Given the description of an element on the screen output the (x, y) to click on. 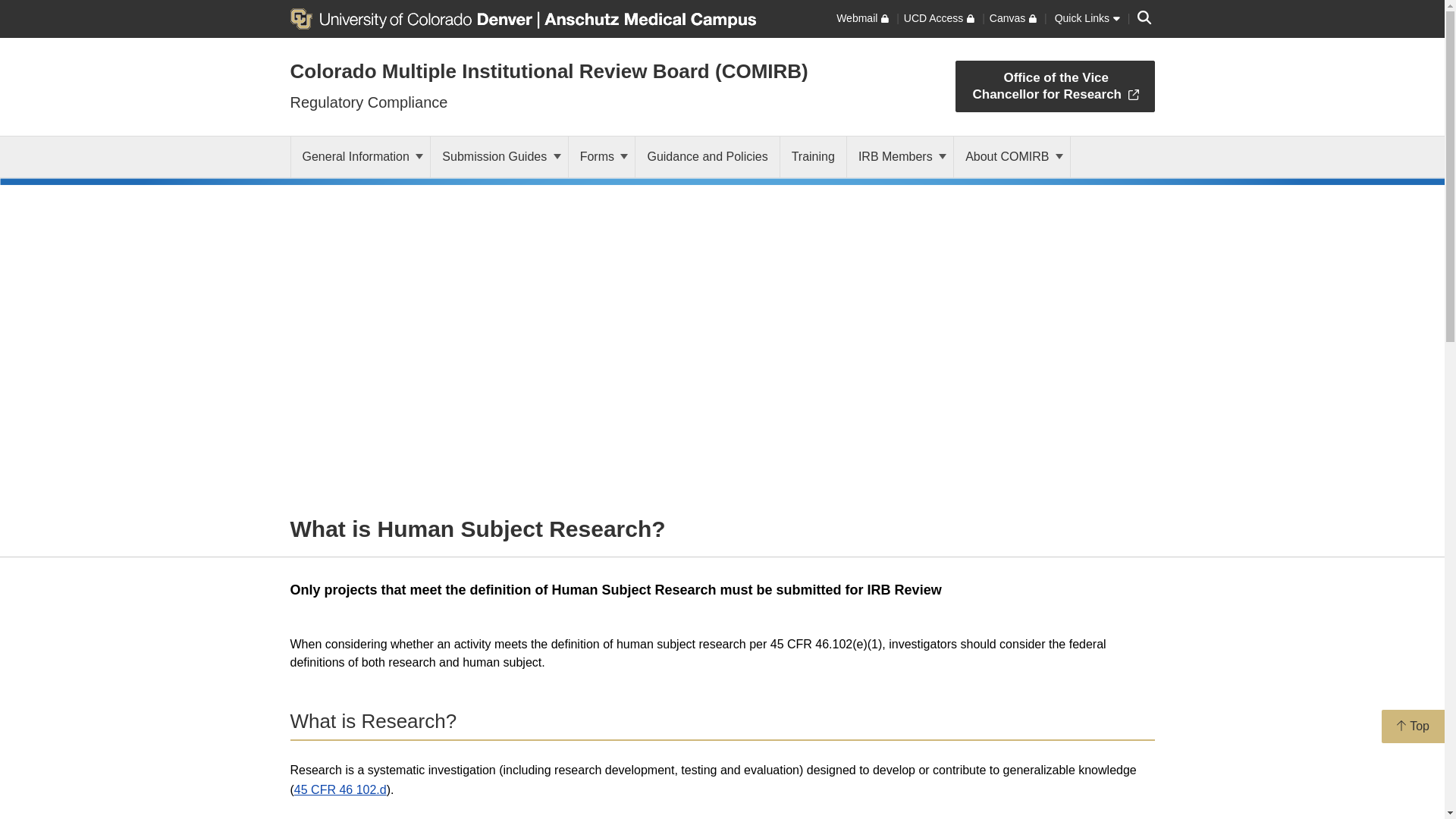
UCD Access (939, 18)
General Information (360, 156)
Office of the Vice Chancellor for Research (1054, 86)
University of Colorado Denver (413, 17)
Webmail (861, 18)
Regulatory Compliance (367, 102)
University of Colorado Anschutz Medical Campus (646, 17)
Canvas (1013, 18)
Quick Links (1086, 18)
